Given the description of an element on the screen output the (x, y) to click on. 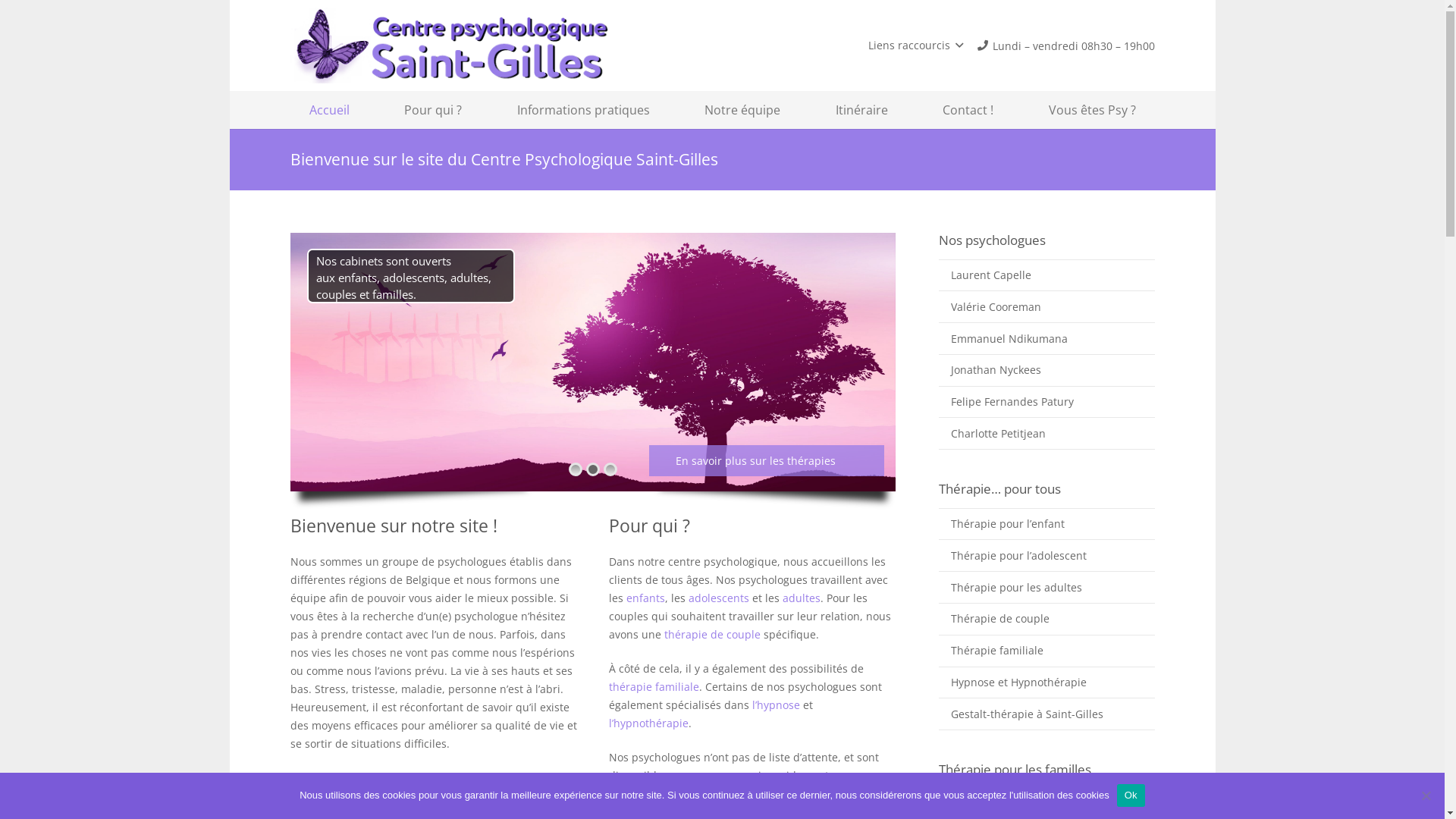
adolescents Element type: text (720, 597)
Ok Element type: text (1131, 795)
Pour qui ? Element type: text (432, 109)
adultes Element type: text (801, 597)
enfants Element type: text (645, 597)
Charlotte Petitjean Element type: text (1046, 432)
No Element type: hover (1425, 795)
Emmanuel Ndikumana Element type: text (1046, 338)
Laurent Capelle Element type: text (1046, 275)
Informations pratiques Element type: text (582, 109)
Contact ! Element type: text (967, 109)
Jonathan Nyckees Element type: text (1046, 369)
Felipe Fernandes Patury Element type: text (1046, 401)
Accueil Element type: text (328, 109)
Liens raccourcis Element type: text (915, 45)
